Given the description of an element on the screen output the (x, y) to click on. 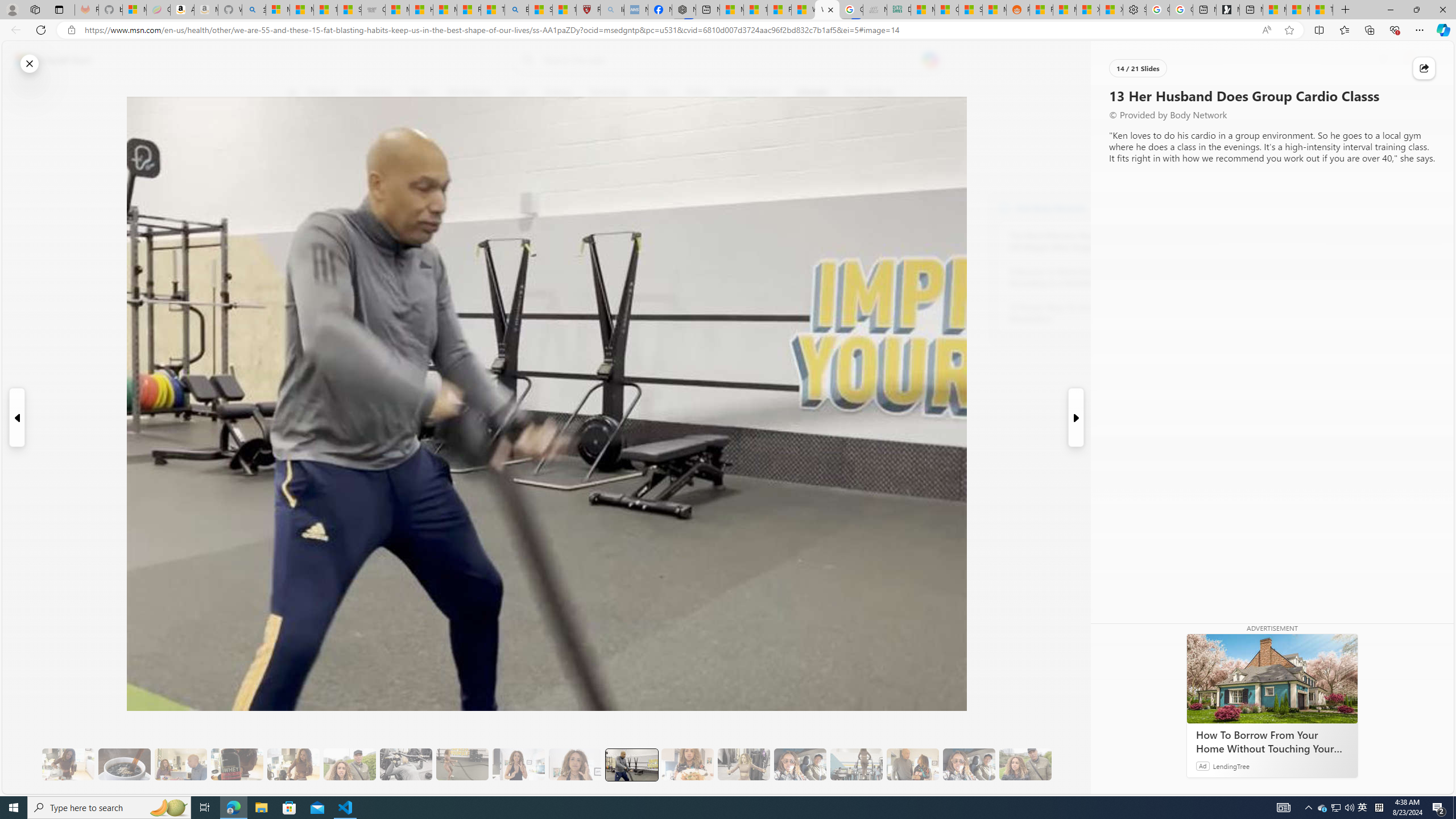
8 Be Mindful of Coffee (124, 764)
10 Then, They Do HIIT Cardio (462, 764)
Go to publisher's site (830, 146)
Class: at-item (299, 266)
